Given the description of an element on the screen output the (x, y) to click on. 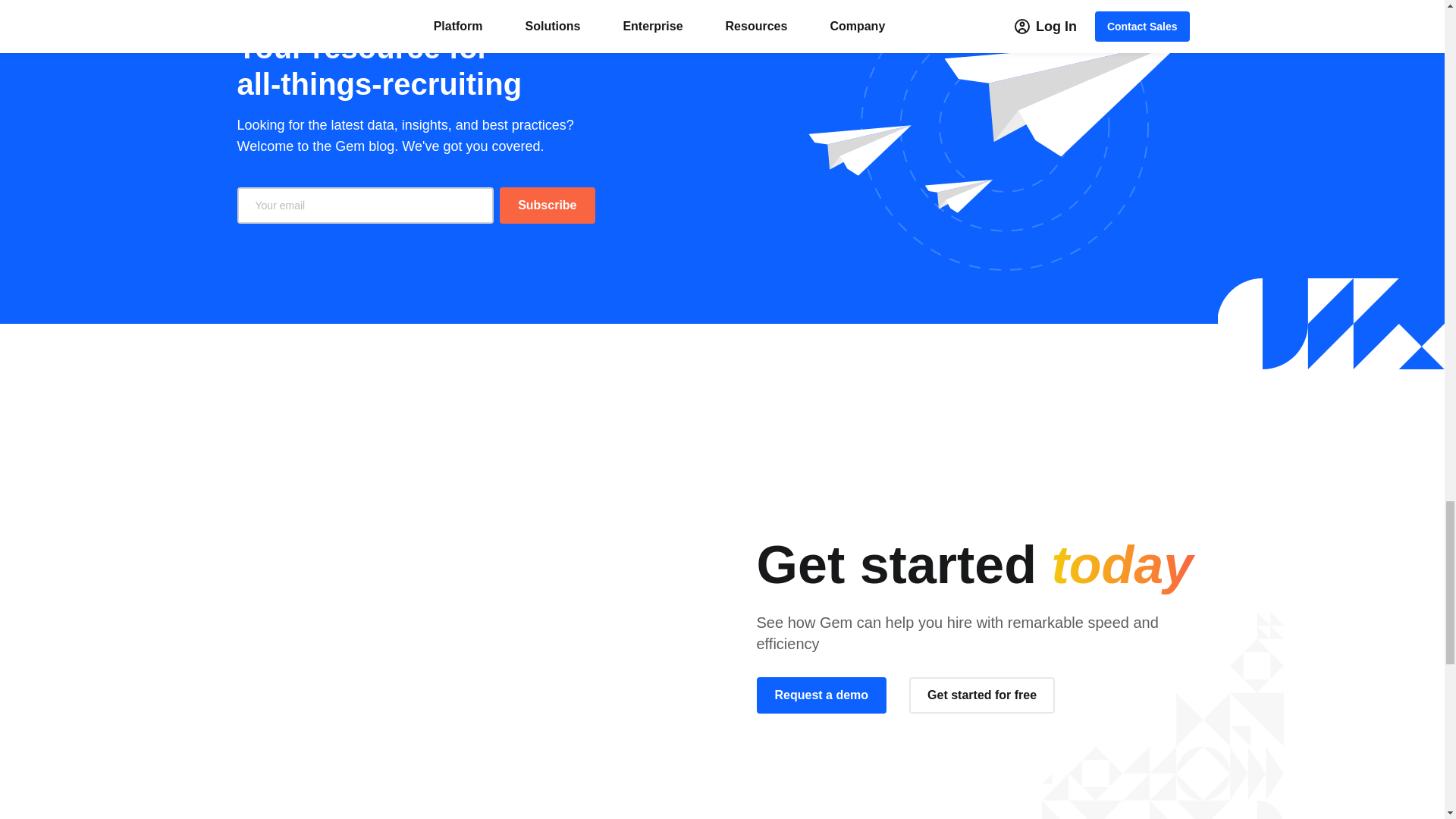
Get started for free (981, 695)
Request a demo (821, 695)
Subscribe (546, 205)
